Given the description of an element on the screen output the (x, y) to click on. 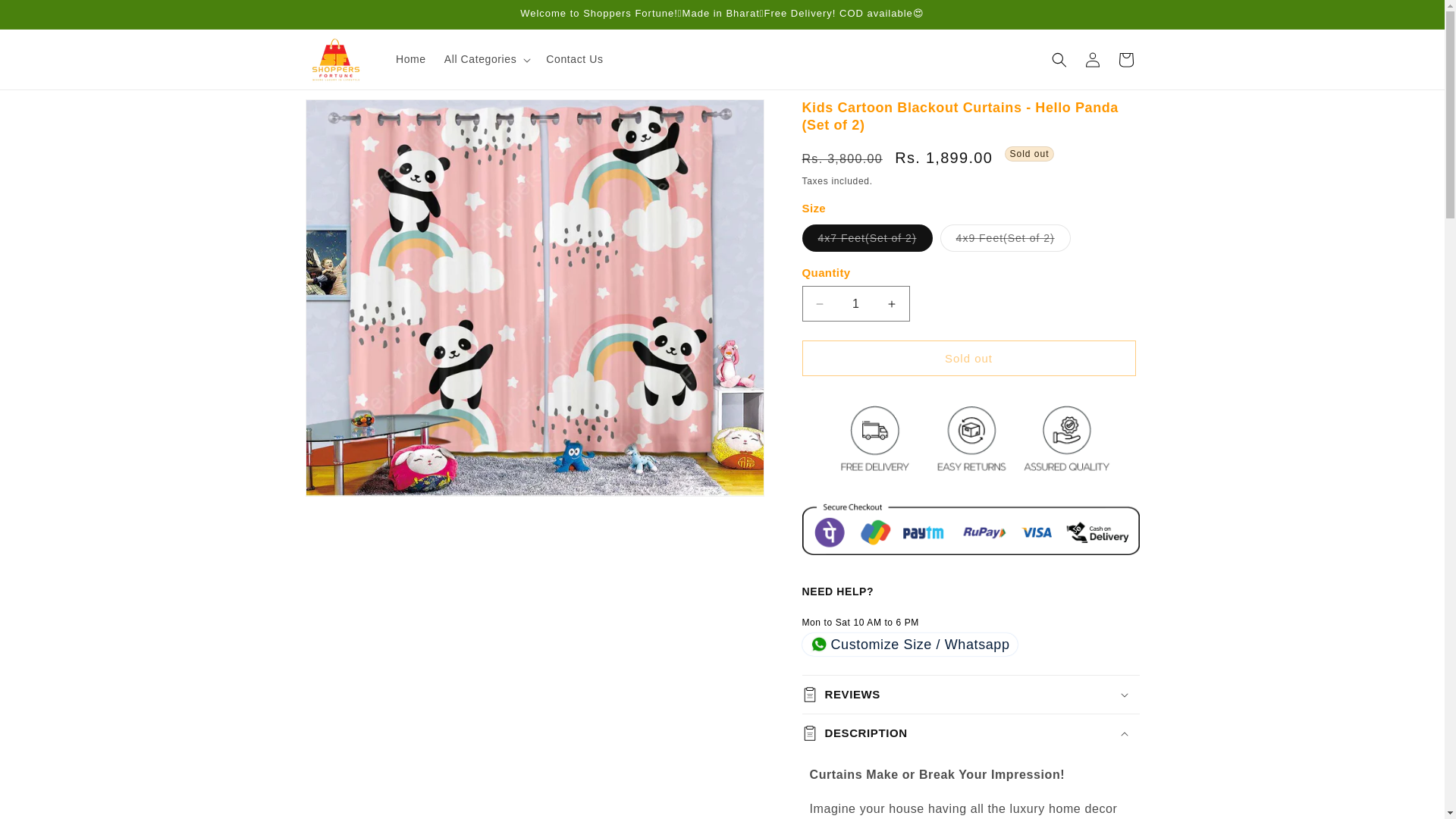
Log in (1091, 59)
Skip to content (45, 17)
Cart (1124, 59)
Contact Us (574, 59)
1 (856, 303)
Home (411, 59)
Skip to product information (350, 116)
